Given the description of an element on the screen output the (x, y) to click on. 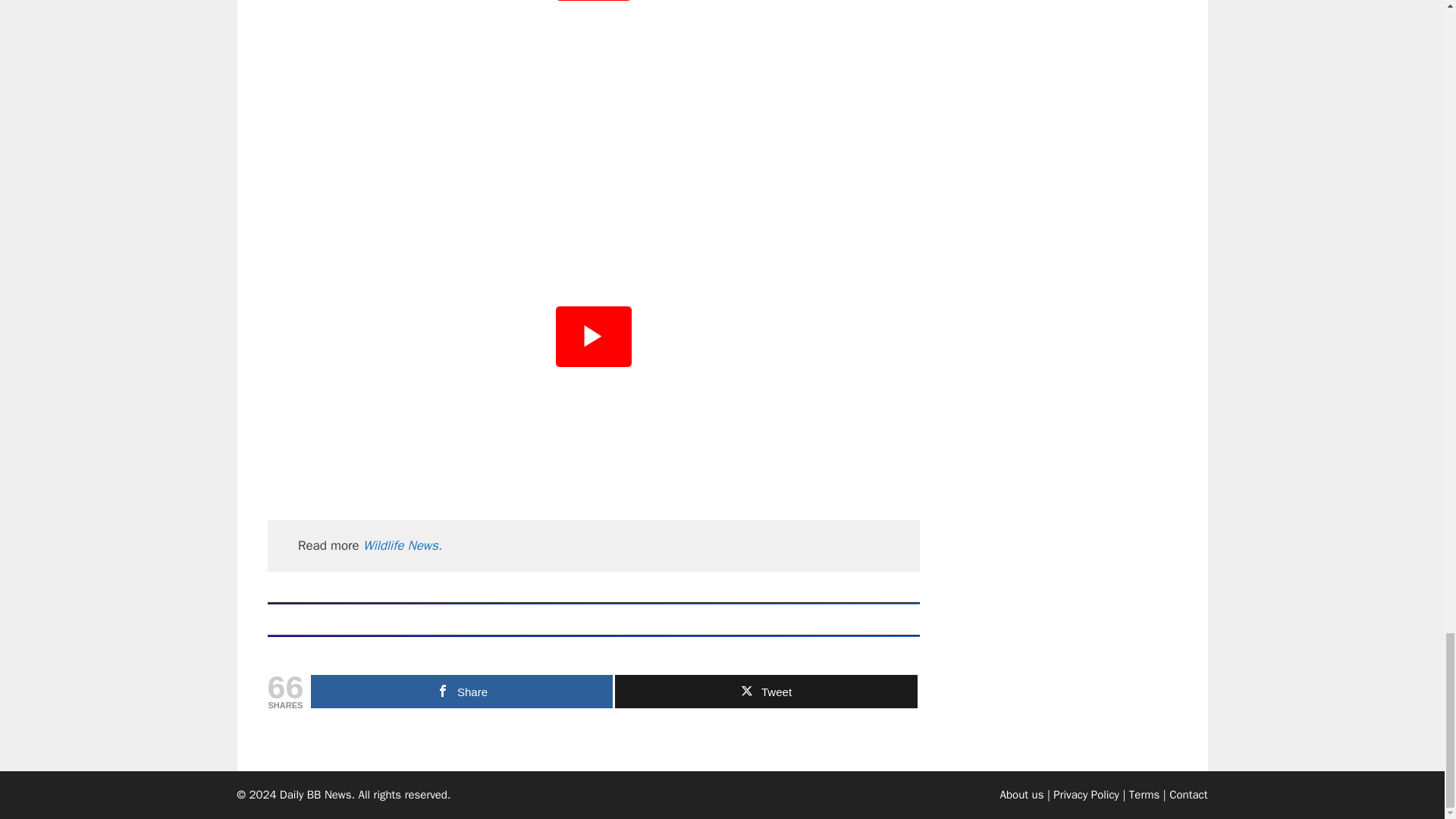
Tweet (765, 691)
About us (1021, 794)
Contact (1188, 794)
Wildlife News. (402, 545)
Terms (1143, 794)
Privacy Policy (1085, 794)
Share (461, 691)
